Given the description of an element on the screen output the (x, y) to click on. 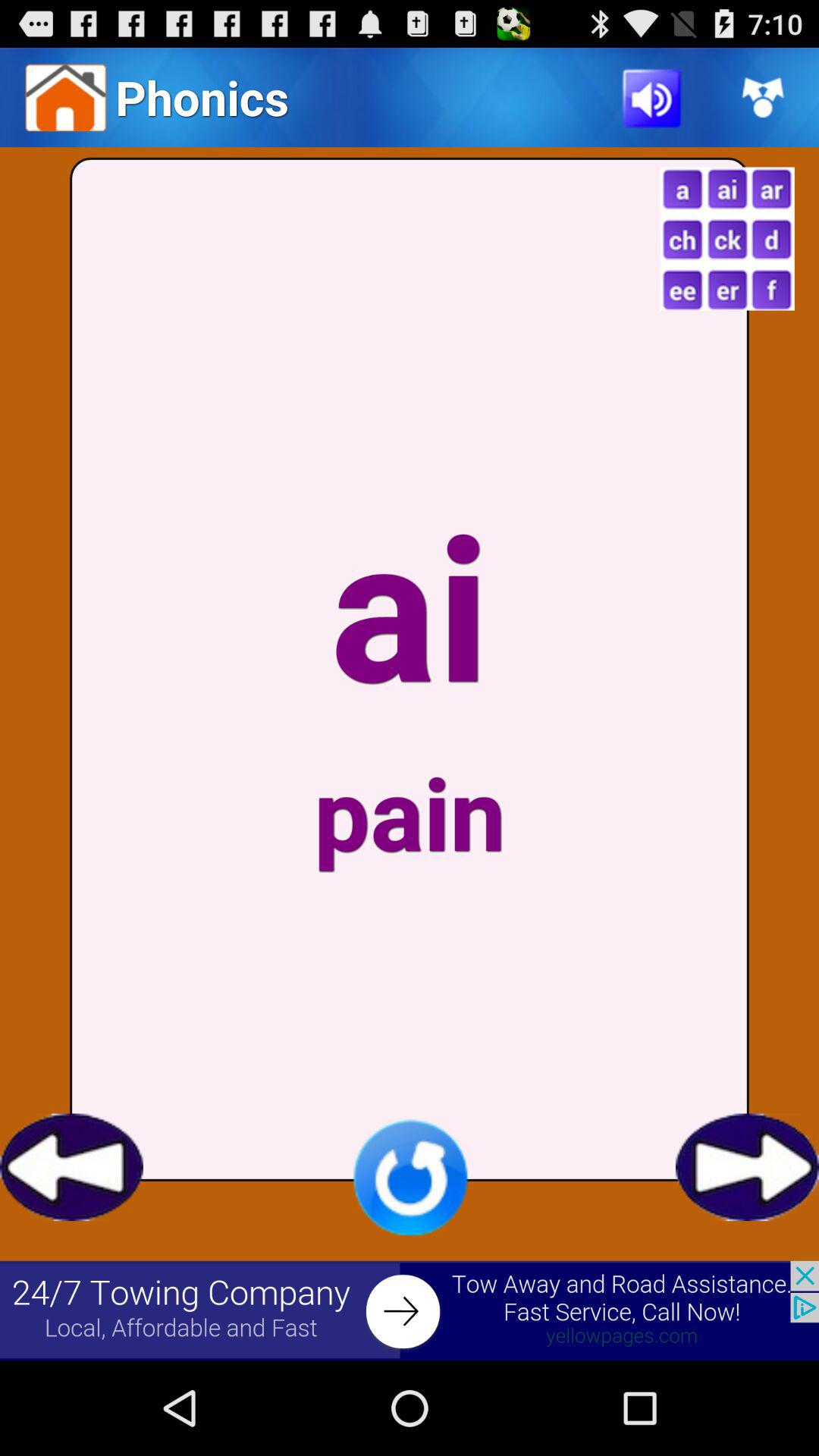
click towing company (409, 1310)
